Given the description of an element on the screen output the (x, y) to click on. 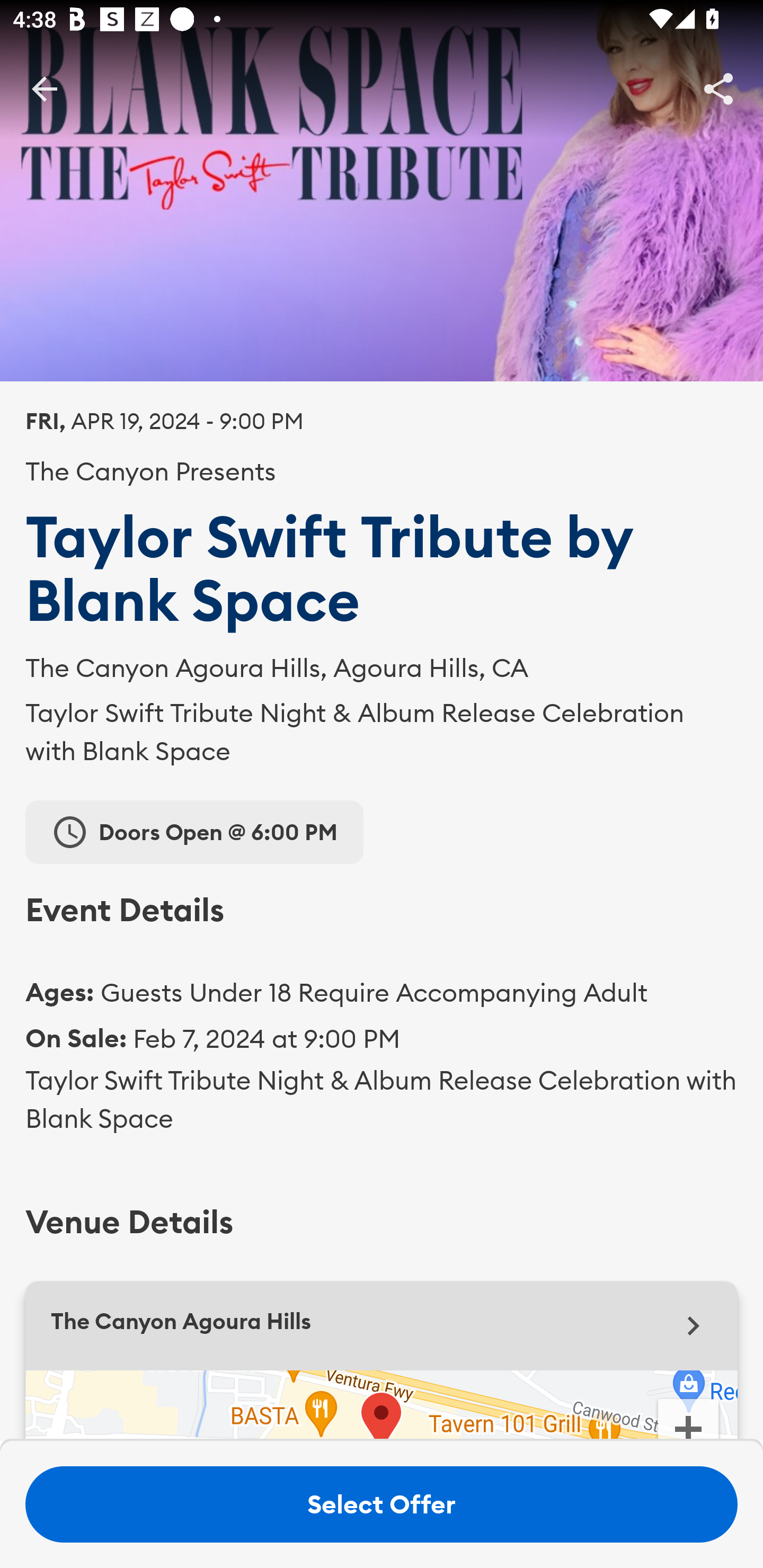
BackButton (44, 88)
Share (718, 88)
The Canyon Agoura Hills (381, 1325)
Zoom in (687, 1417)
Select Offer (381, 1504)
